Given the description of an element on the screen output the (x, y) to click on. 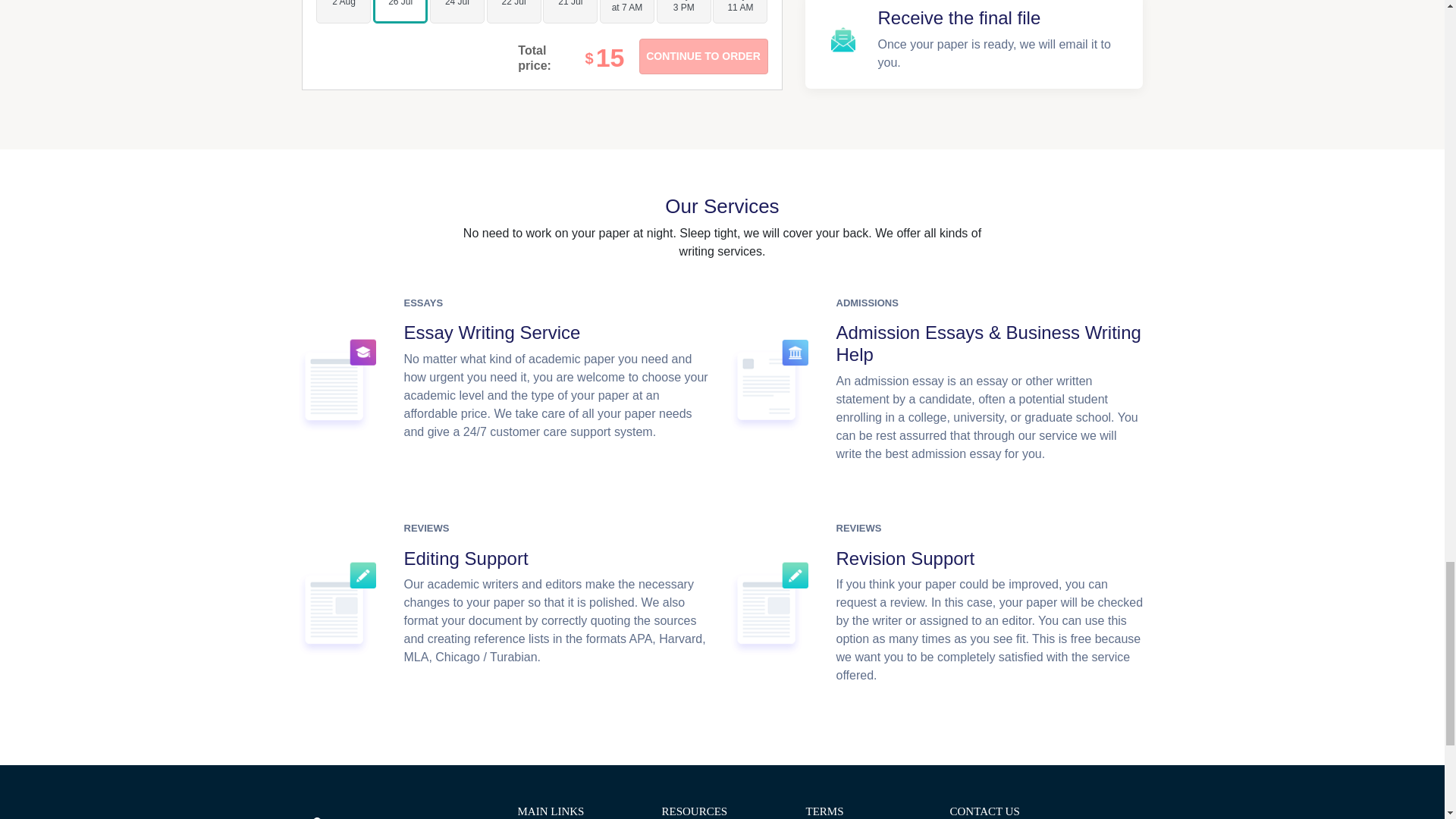
Continue to order (703, 56)
Continue to order (703, 56)
